Given the description of an element on the screen output the (x, y) to click on. 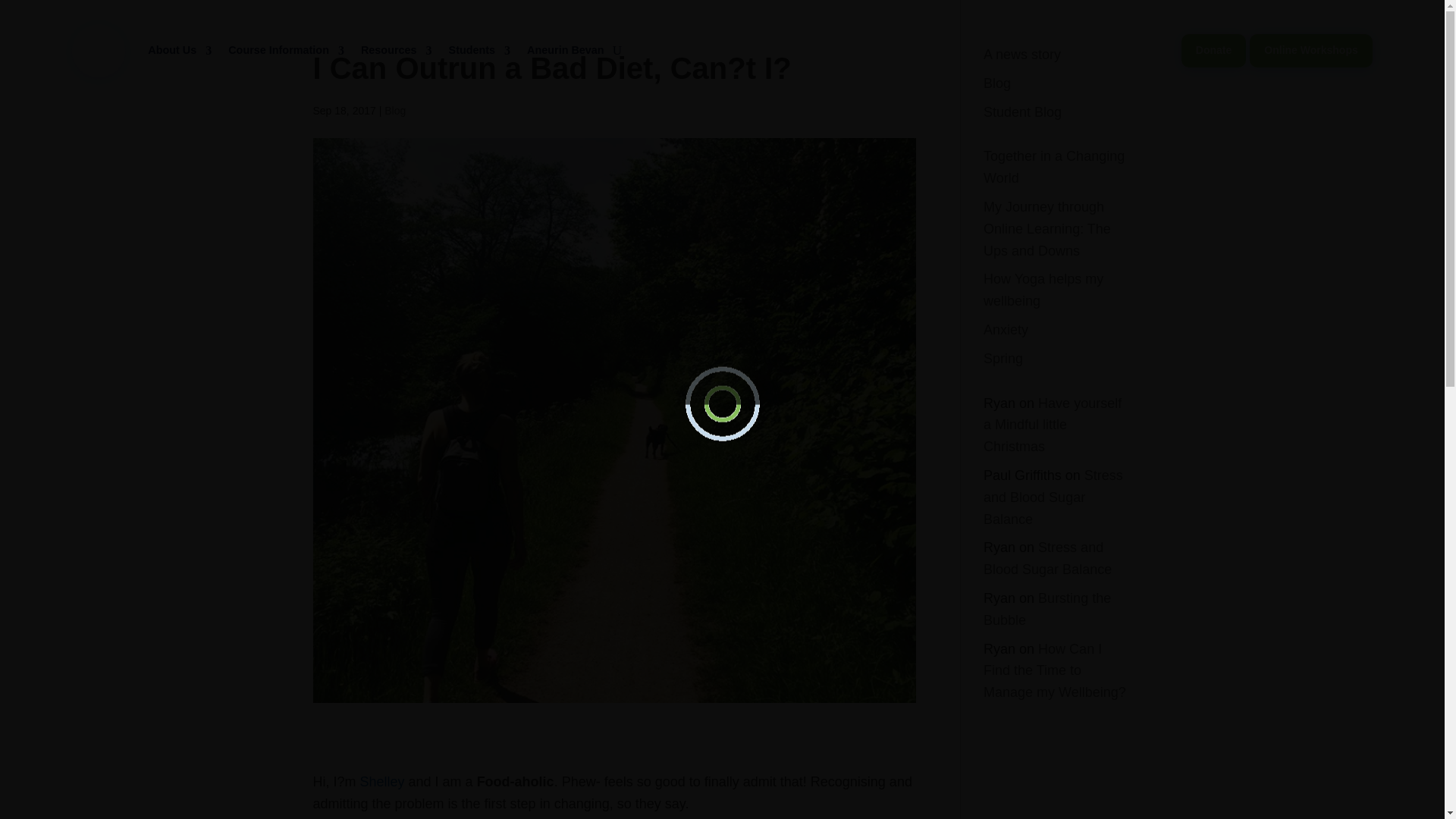
Students (479, 50)
Aneurin Bevan (565, 50)
About Us (179, 50)
Course Information (285, 50)
Resources (396, 50)
